Given the description of an element on the screen output the (x, y) to click on. 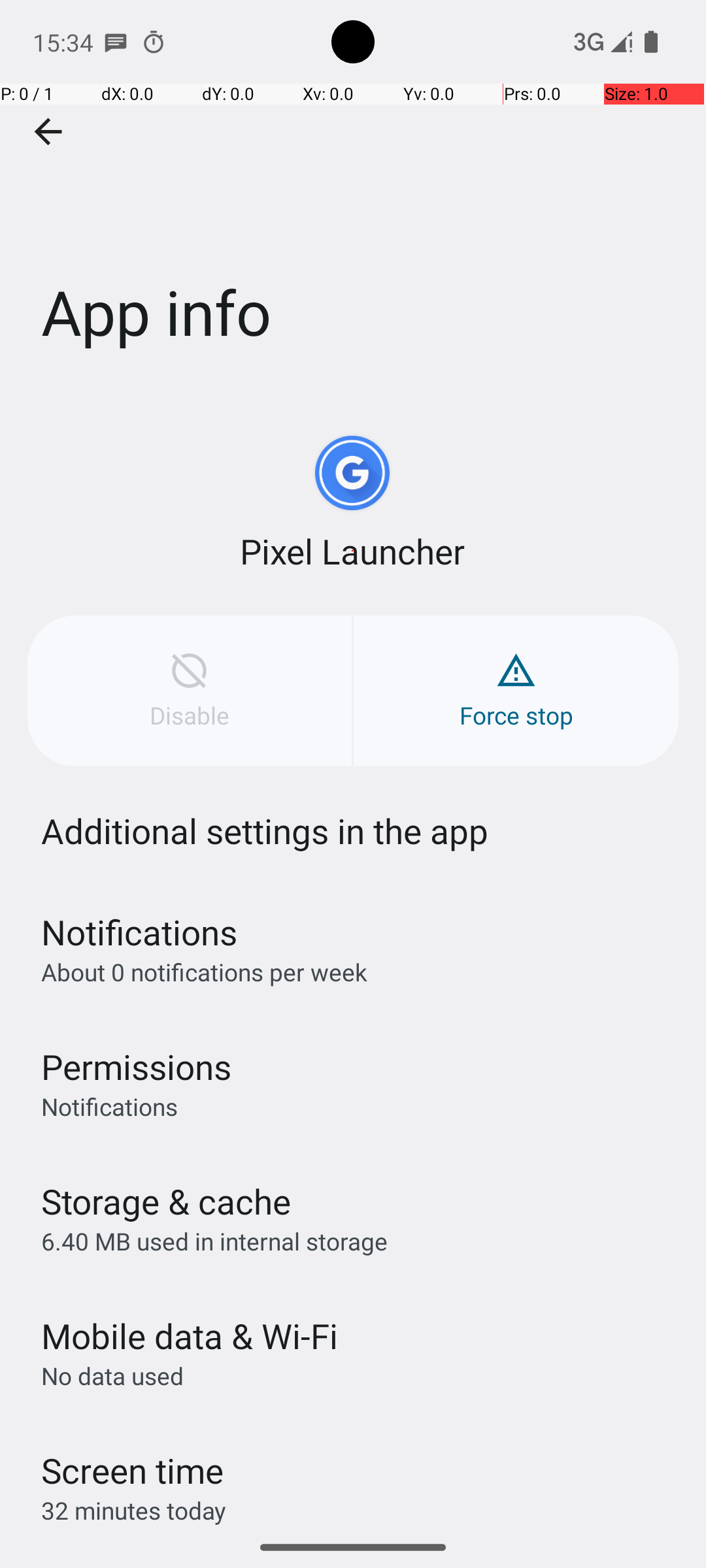
6.40 MB used in internal storage Element type: android.widget.TextView (214, 1240)
32 minutes today Element type: android.widget.TextView (133, 1509)
